Given the description of an element on the screen output the (x, y) to click on. 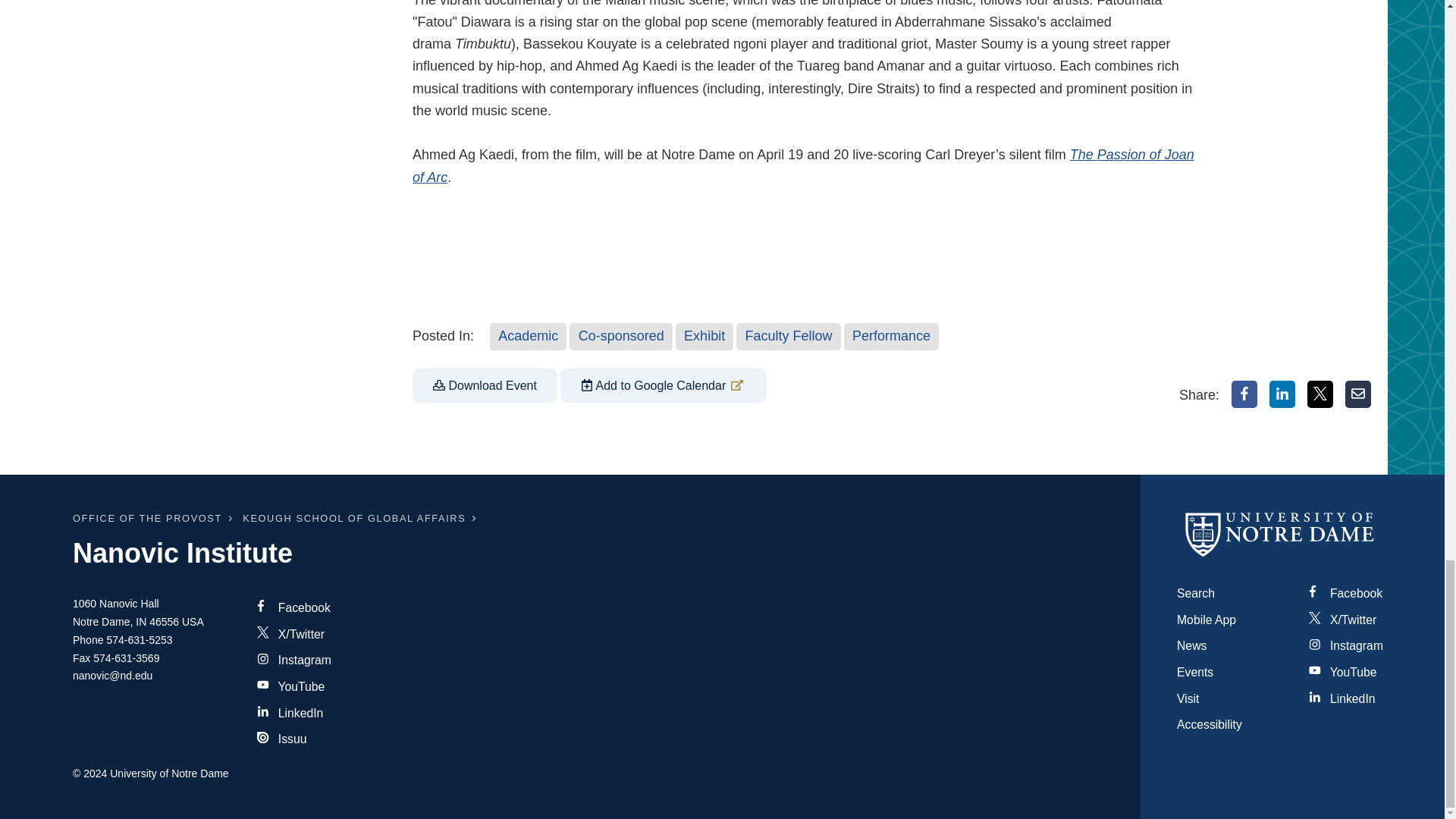
Email (1358, 393)
Facebook (1244, 393)
LinkedIn (1282, 393)
